Given the description of an element on the screen output the (x, y) to click on. 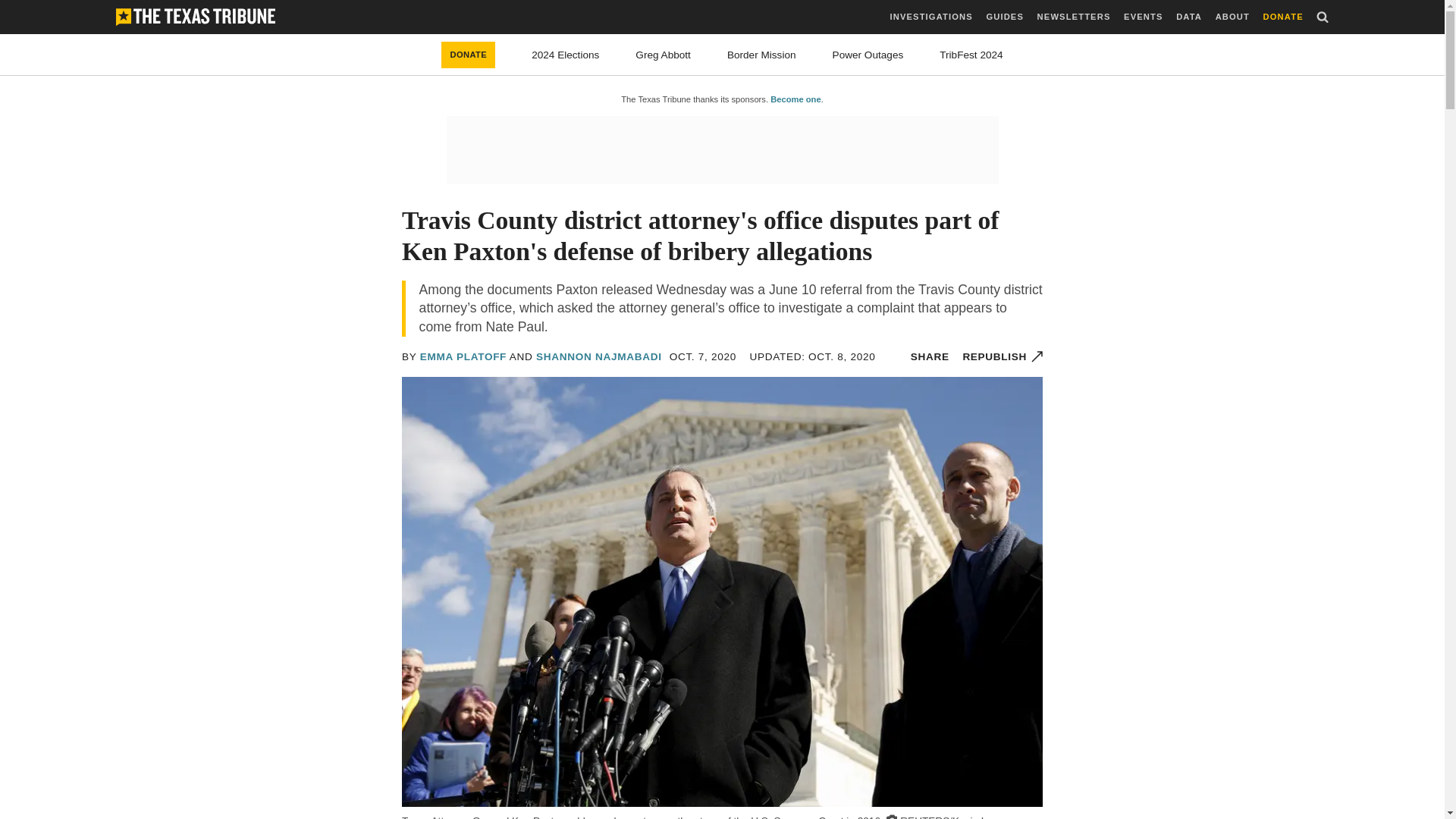
GUIDES (1004, 17)
2020-10-08 11:42 CDT (812, 356)
2020-10-07 18:50 CDT (702, 356)
DONATE (468, 54)
EVENTS (1142, 17)
Power Outages (868, 54)
Become one (795, 99)
SHANNON NAJMABADI (598, 356)
TribFest 2024 (971, 54)
2024 Elections (564, 54)
NEWSLETTERS (1073, 17)
3rd party ad content (721, 150)
DONATE (1283, 17)
Border Mission (761, 54)
EMMA PLATOFF (463, 356)
